Given the description of an element on the screen output the (x, y) to click on. 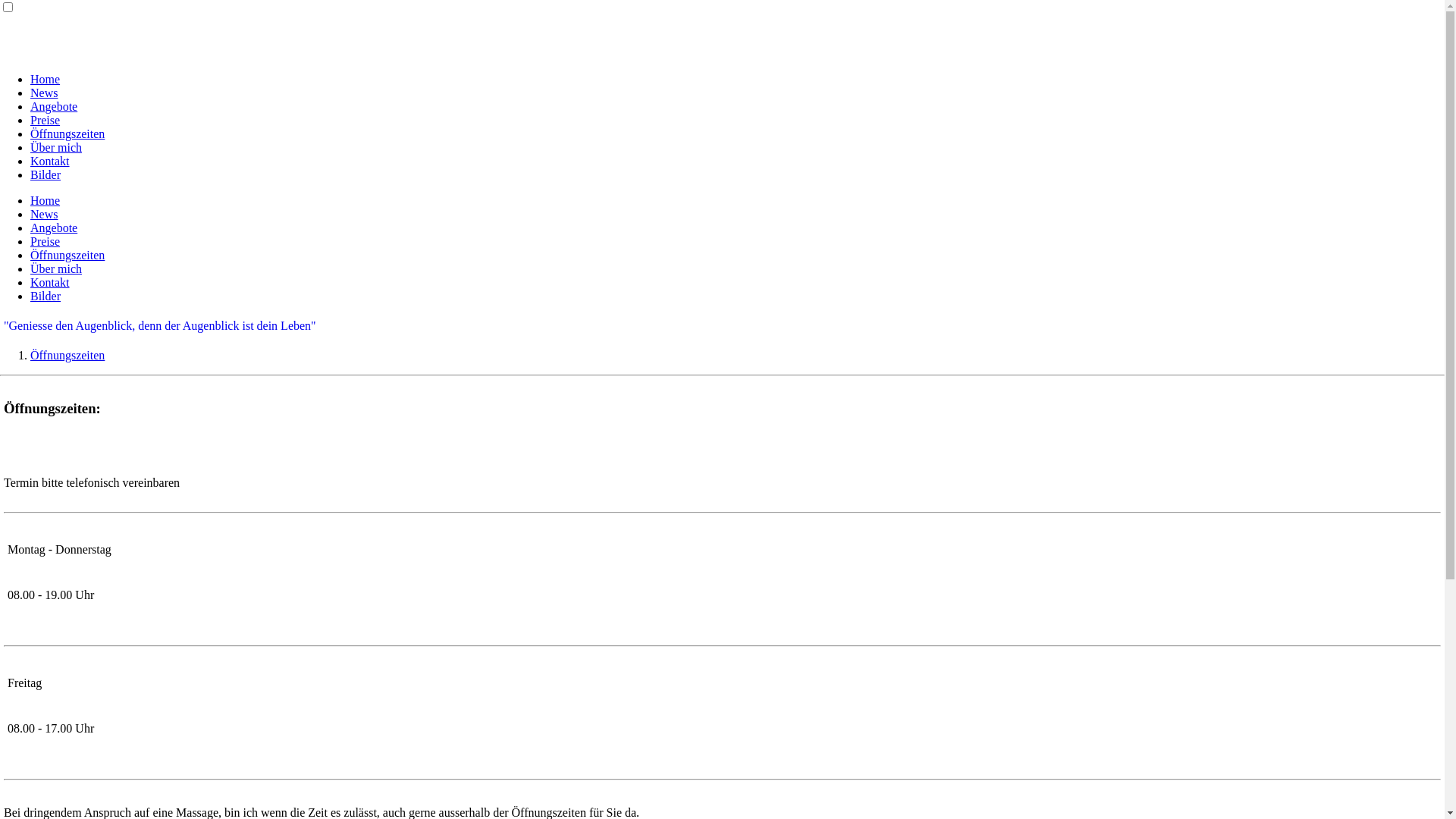
Preise Element type: text (44, 119)
News Element type: text (43, 92)
Bilder Element type: text (45, 295)
Home Element type: text (44, 200)
Angebote Element type: text (53, 227)
Preise Element type: text (44, 241)
Kontakt Element type: text (49, 160)
Angebote Element type: text (53, 106)
Kontakt Element type: text (49, 282)
Bilder Element type: text (45, 174)
News Element type: text (43, 213)
Home Element type: text (44, 78)
